Given the description of an element on the screen output the (x, y) to click on. 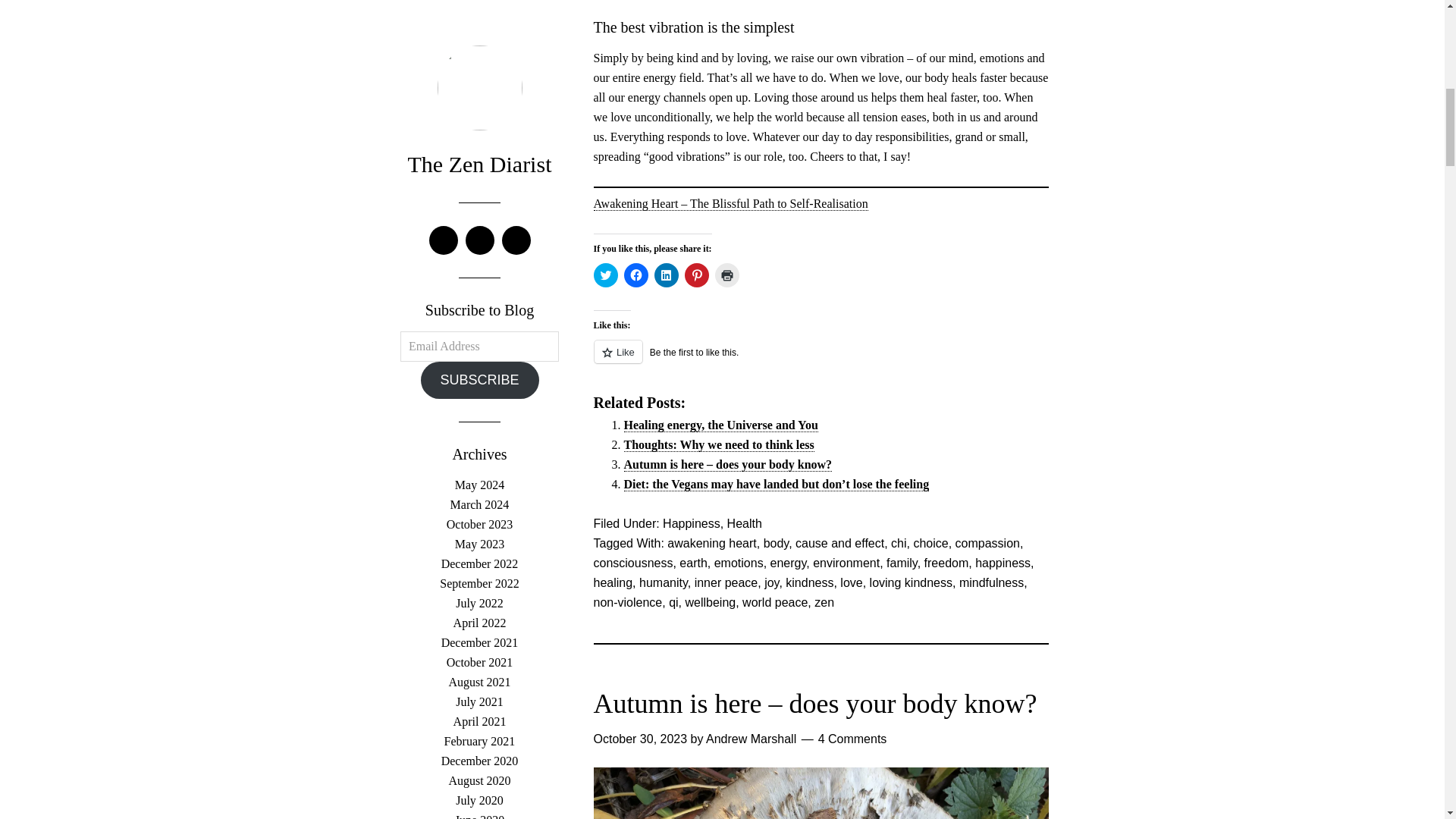
April 2019 (479, 237)
May 2020 (478, 20)
May 2019 (478, 217)
Click to share on LinkedIn (665, 274)
November 2019 (480, 119)
January 2020 (479, 99)
August 2019 (479, 158)
June 2019 (478, 197)
February 2020 (479, 79)
Thoughts: Why we need to think less (718, 445)
January 2019 (479, 296)
October 2019 (479, 138)
March 2020 (479, 60)
Click to share on Facebook (635, 274)
Healing energy, the Universe and You (719, 425)
